Given the description of an element on the screen output the (x, y) to click on. 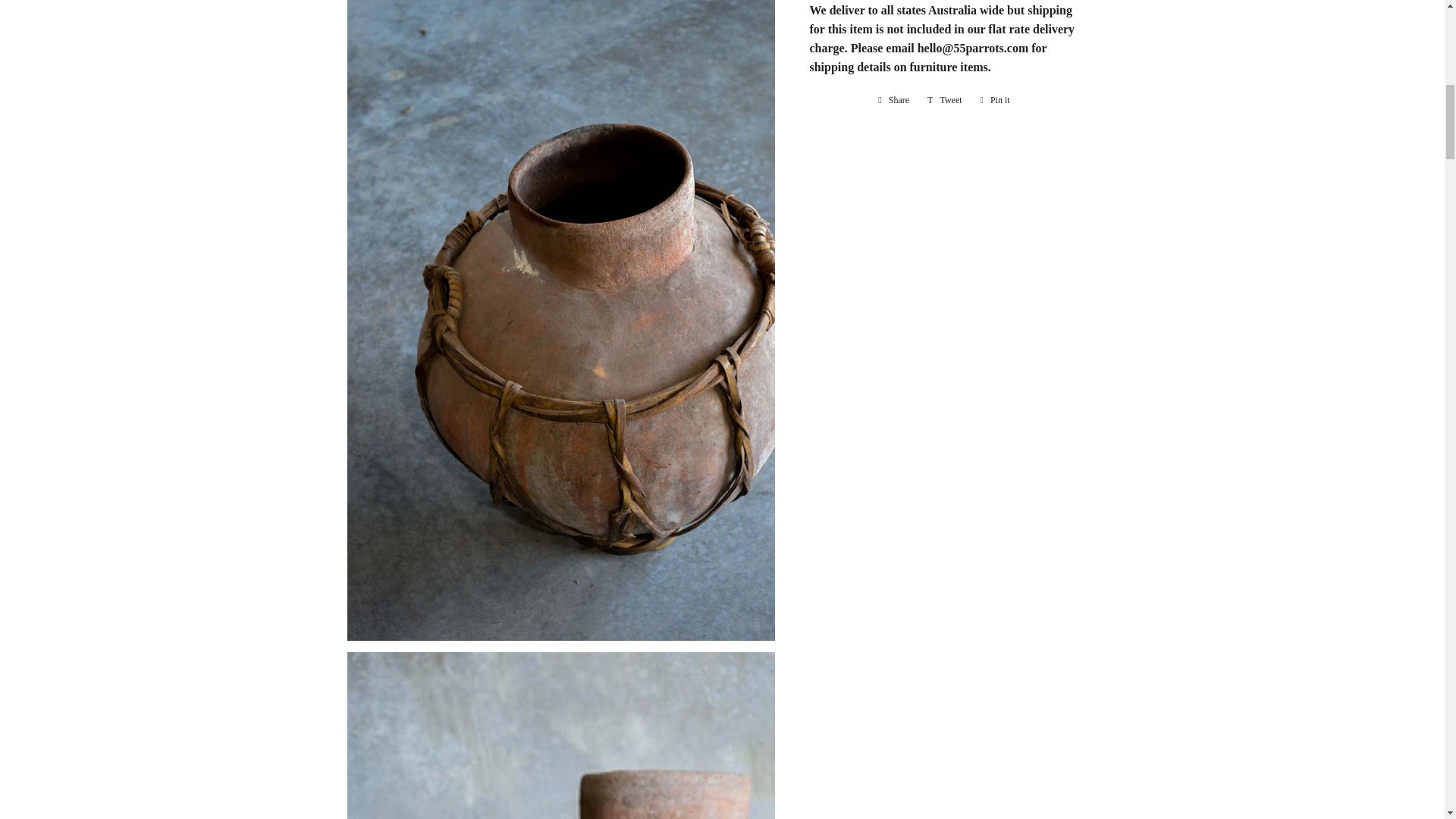
Share on Facebook (893, 99)
Tweet on Twitter (944, 99)
Pin on Pinterest (994, 99)
